Given the description of an element on the screen output the (x, y) to click on. 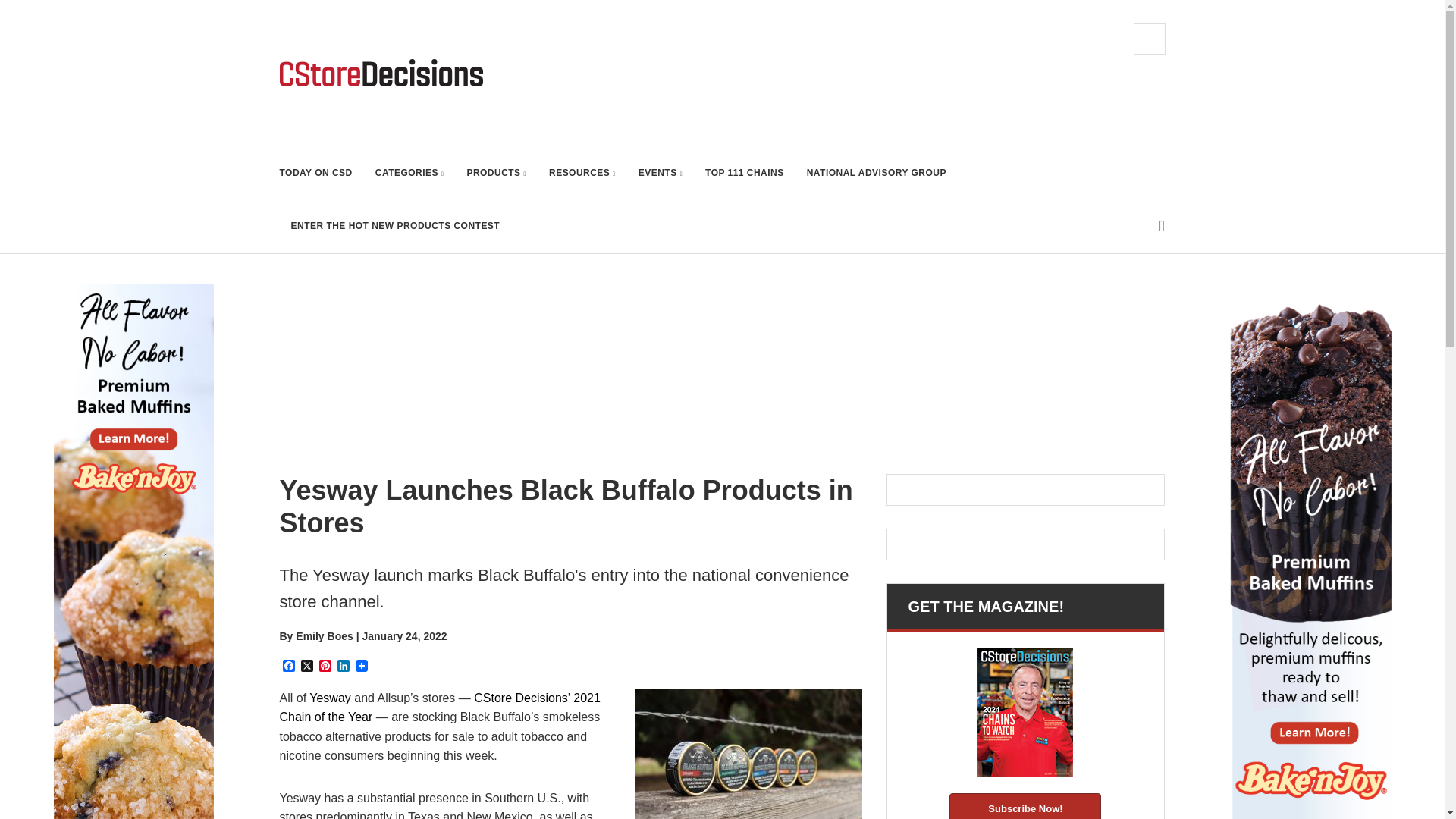
RESOURCES (581, 172)
TOP 111 CHAINS (744, 172)
TODAY ON CSD (315, 172)
PRODUCTS (495, 172)
CATEGORIES (409, 172)
Pinterest (324, 667)
Facebook (288, 667)
LinkedIn (342, 667)
X (306, 667)
CStore Decisions (380, 72)
